Given the description of an element on the screen output the (x, y) to click on. 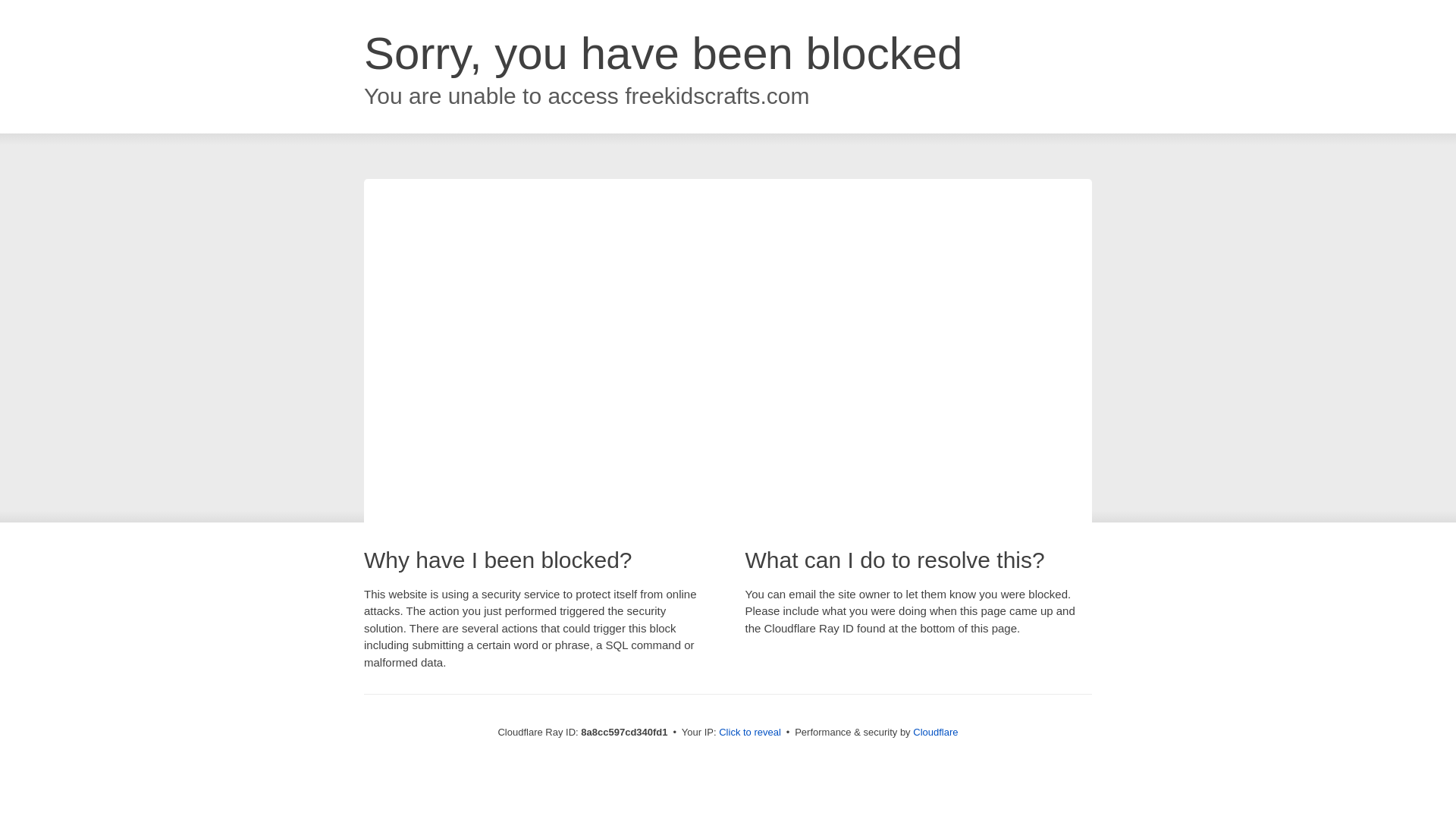
Cloudflare (935, 731)
Click to reveal (749, 732)
